Given the description of an element on the screen output the (x, y) to click on. 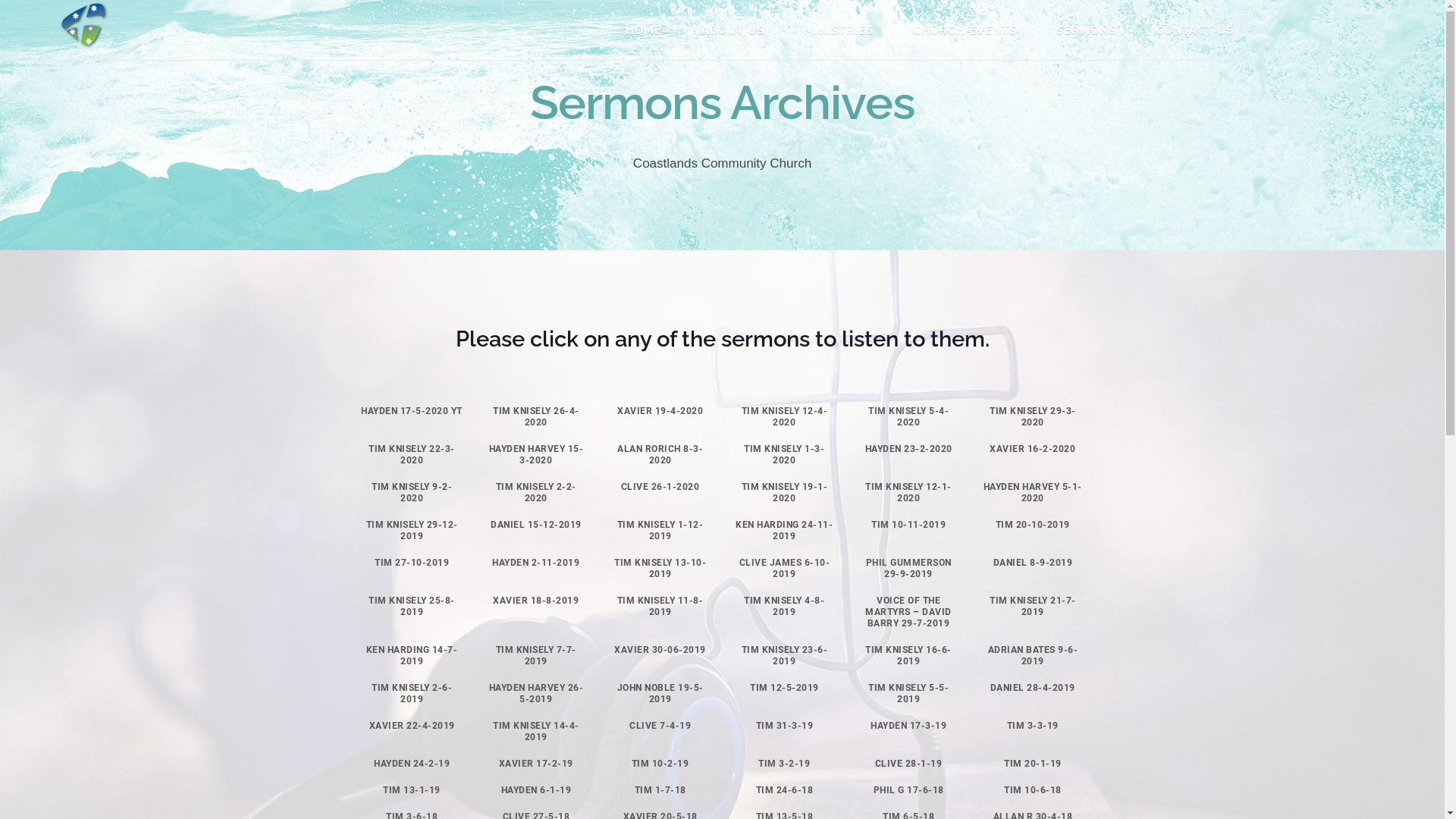
ADRIAN BATES 9-6-2019 Element type: text (1033, 655)
TIM KNISELY 13-10-2019 Element type: text (660, 568)
TIM 27-10-2019 Element type: text (411, 562)
HAYDEN HARVEY 15-3-2020 Element type: text (536, 454)
TIM KNISELY 12-4-2020 Element type: text (784, 416)
TIM KNISELY 23-6-2019 Element type: text (784, 655)
TIM KNISELY 9-2-2020 Element type: text (411, 492)
TIM KNISELY 11-8-2019 Element type: text (660, 606)
CLIVE 7-4-19 Element type: text (659, 725)
TIM 10-2-19 Element type: text (660, 763)
XAVIER 18-8-2019 Element type: text (535, 600)
HAYDEN HARVEY 26-5-2019 Element type: text (536, 693)
XAVIER 22-4-2019 Element type: text (412, 725)
TIM 13-1-19 Element type: text (411, 789)
HOME Element type: text (649, 29)
PHIL GUMMERSON 29-9-2019 Element type: text (908, 568)
HAYDEN 17-5-2020 YT Element type: text (411, 410)
TIM 24-6-18 Element type: text (784, 789)
TIM 1-7-18 Element type: text (660, 789)
XAVIER 16-2-2020 Element type: text (1032, 448)
HAYDEN 24-2-19 Element type: text (411, 763)
TIM KNISELY 2-2-2020 Element type: text (535, 492)
TIM KNISELY 25-8-2019 Element type: text (411, 606)
HAYDEN HARVEY 5-1-2020 Element type: text (1032, 492)
TIM KNISELY 14-4-2019 Element type: text (535, 731)
CLIVE 26-1-2020 Element type: text (660, 486)
TIM 3-3-19 Element type: text (1032, 725)
TIM 31-3-19 Element type: text (784, 725)
TIM KNISELY 29-12-2019 Element type: text (412, 530)
TIM KNISELY 19-1-2020 Element type: text (784, 492)
XAVIER 17-2-19 Element type: text (535, 763)
CONTACT US Element type: text (1200, 29)
TIM KNISELY 1-3-2020 Element type: text (783, 454)
DANIEL 28-4-2019 Element type: text (1032, 687)
TIM KNISELY 4-8-2019 Element type: text (783, 606)
TIM KNISELY 1-12-2019 Element type: text (660, 530)
JOHN NOBLE 19-5-2019 Element type: text (660, 693)
DANIEL 8-9-2019 Element type: text (1033, 562)
TIM KNISELY 29-3-2020 Element type: text (1032, 416)
TIM KNISELY 5-4-2020 Element type: text (908, 416)
HAYDEN 23-2-2020 Element type: text (908, 448)
TIM KNISELY 5-5-2019 Element type: text (908, 693)
TIM KNISELY 2-6-2019 Element type: text (411, 693)
XAVIER 30-06-2019 Element type: text (660, 649)
TIM 20-1-19 Element type: text (1032, 763)
HAYDEN 6-1-19 Element type: text (536, 789)
KEN HARDING 24-11-2019 Element type: text (783, 530)
TIM KNISELY 26-4-2020 Element type: text (535, 416)
TIM KNISELY 12-1-2020 Element type: text (908, 492)
HAYDEN 2-11-2019 Element type: text (535, 562)
TIM 3-2-19 Element type: text (783, 763)
DANIEL 15-12-2019 Element type: text (535, 524)
TIM KNISELY 16-6-2019 Element type: text (908, 655)
TIM 20-10-2019 Element type: text (1032, 524)
CHURCH EVENTS Element type: text (970, 29)
TIM 12-5-2019 Element type: text (784, 687)
PHIL G 17-6-18 Element type: text (908, 789)
ALAN RORICH 8-3-2020 Element type: text (659, 454)
TIM KNISELY 22-3-2020 Element type: text (411, 454)
TIM 10-6-18 Element type: text (1032, 789)
KEN HARDING 14-7-2019 Element type: text (412, 655)
TIM KNISELY 21-7-2019 Element type: text (1032, 606)
CLIVE 28-1-19 Element type: text (908, 763)
TIM 10-11-2019 Element type: text (908, 524)
SERMONS Element type: text (1092, 29)
MINISTRIES Element type: text (844, 29)
HAYDEN 17-3-19 Element type: text (908, 725)
XAVIER 19-4-2020 Element type: text (659, 410)
ABOUT US Element type: text (738, 29)
TIM KNISELY 7-7-2019 Element type: text (535, 655)
CLIVE JAMES 6-10-2019 Element type: text (784, 568)
